Given the description of an element on the screen output the (x, y) to click on. 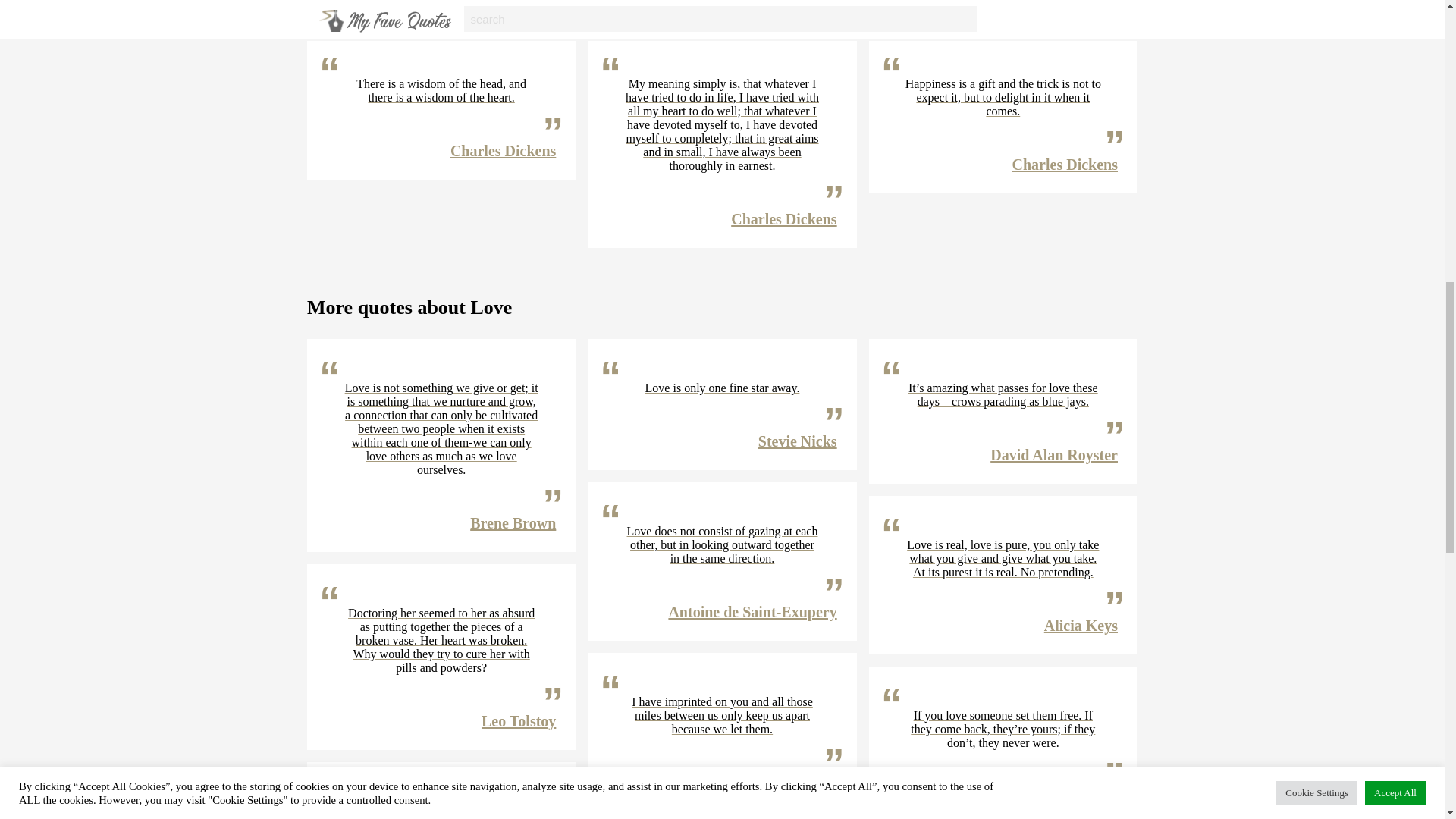
Leo Tolstoy (518, 720)
Charles Dickens (1064, 164)
Charles Dickens (782, 218)
Charles Dickens (502, 1)
Brene Brown (513, 523)
Charles Dickens (502, 150)
Charles Dickens (1064, 1)
Charles Dickens (782, 1)
